Given the description of an element on the screen output the (x, y) to click on. 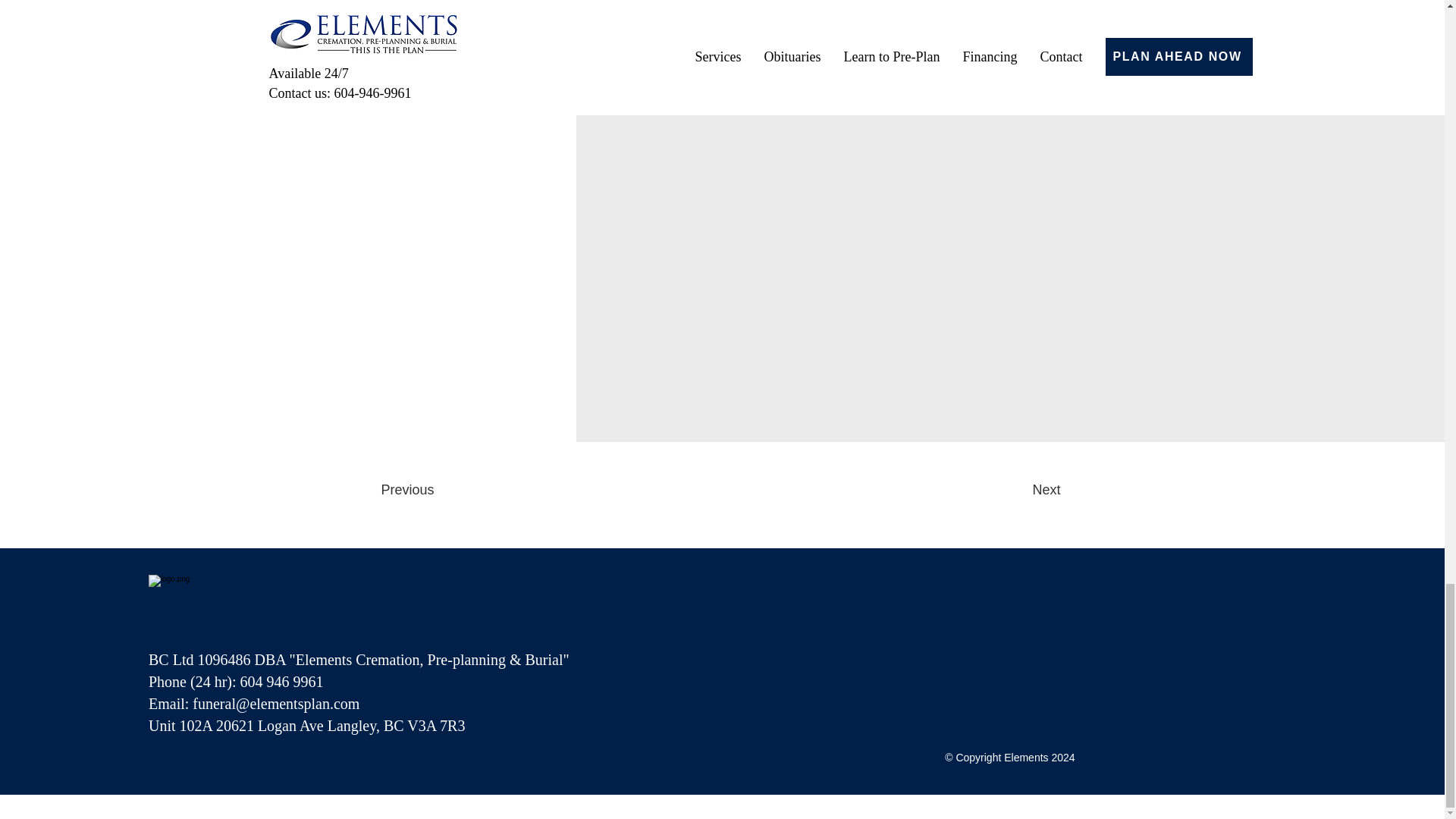
Next (1019, 490)
Previous (423, 490)
